Given the description of an element on the screen output the (x, y) to click on. 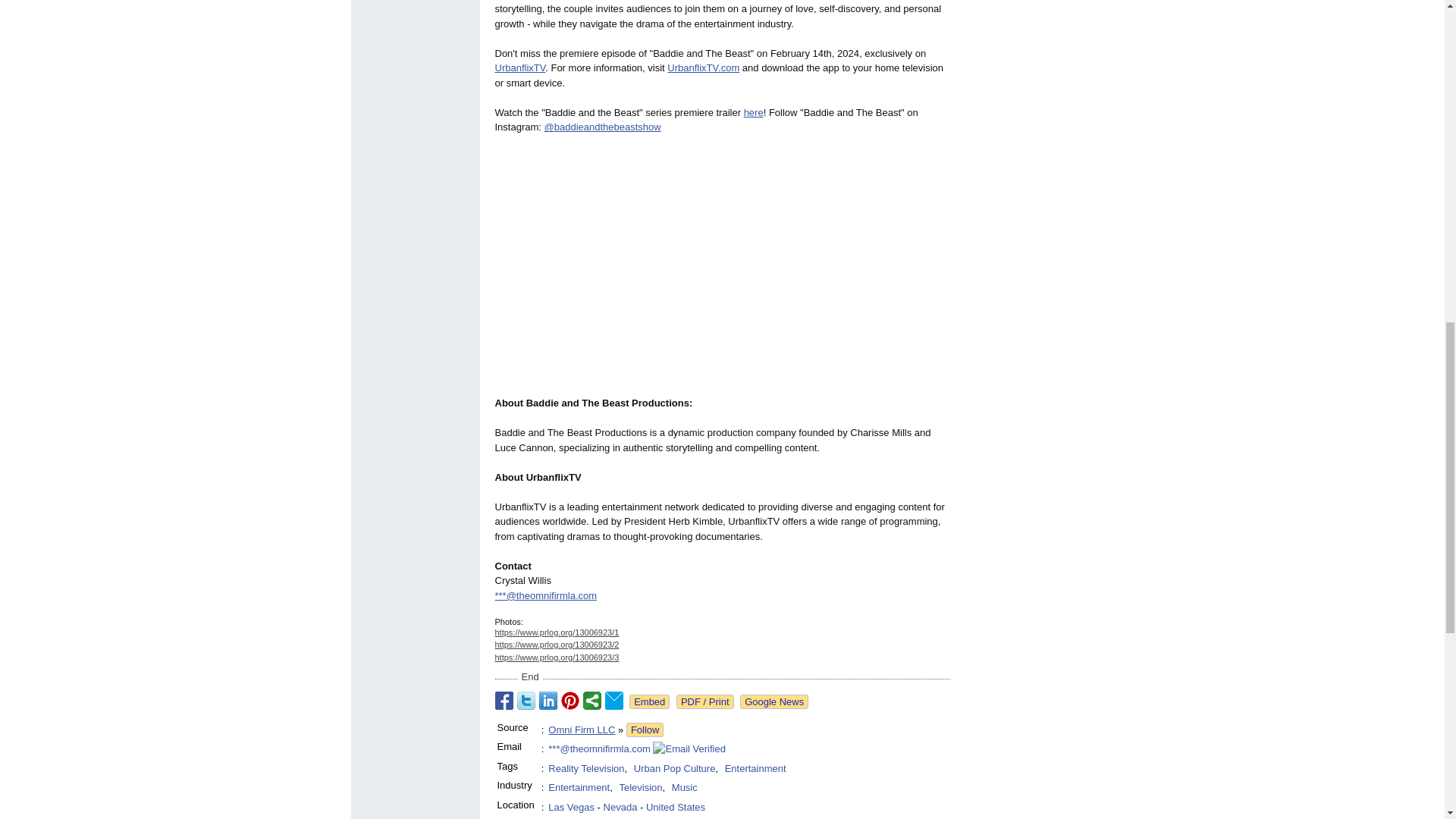
Embed (648, 701)
Share on Pinterest (569, 700)
Embed this press release in your website! (648, 701)
Share on LinkedIn (547, 700)
Share on Twitter (525, 700)
See or print the PDF version! (705, 701)
Email to a Friend (614, 700)
Share on Facebook (503, 700)
Share on StumbleUpon, Digg, etc (590, 700)
Email Verified (688, 749)
